Given the description of an element on the screen output the (x, y) to click on. 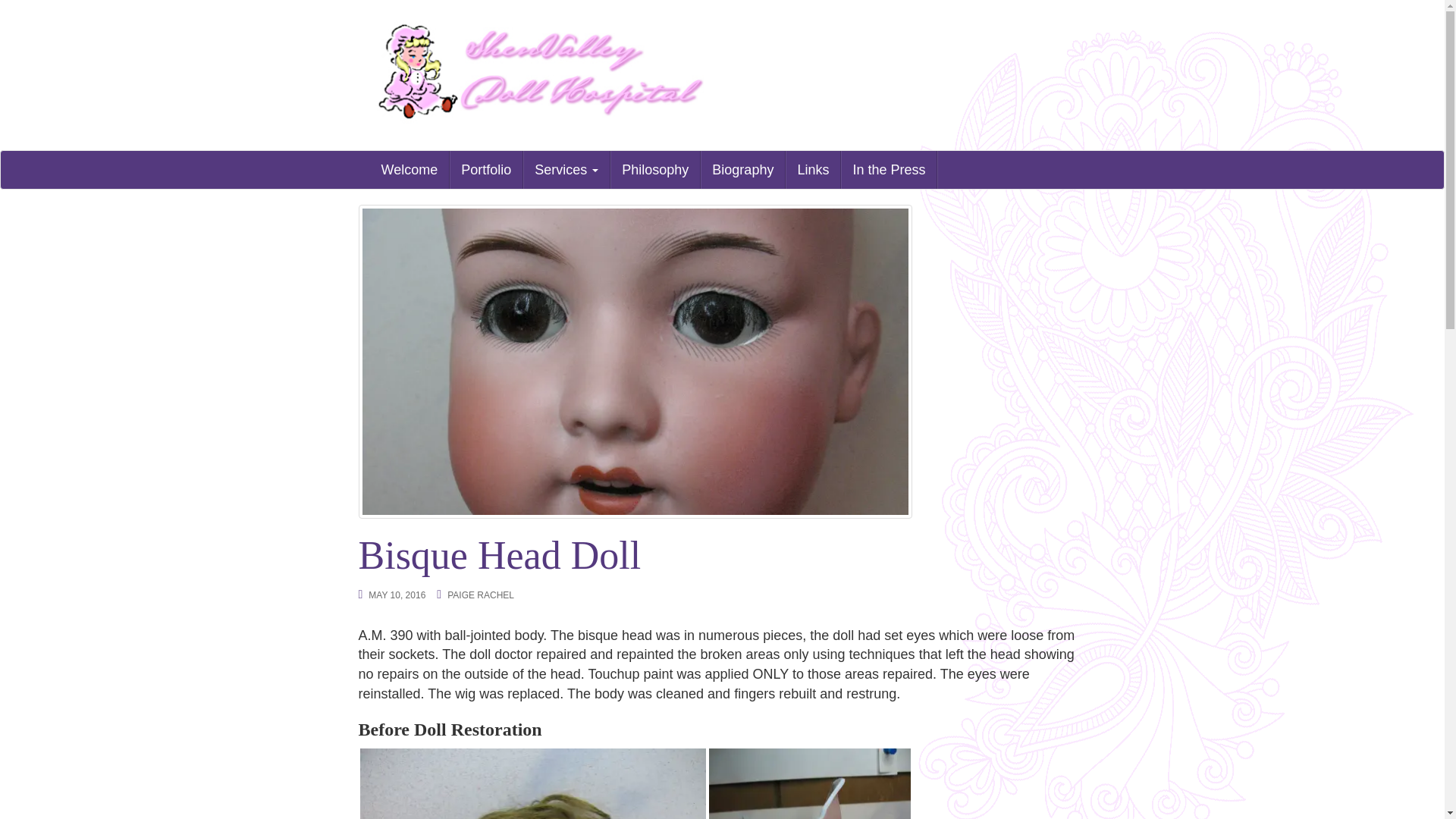
Portfolio (485, 168)
PAIGE RACHEL (479, 594)
Philosophy (655, 168)
In the Press (889, 168)
Philosophy (655, 168)
Services (566, 168)
In the Press (889, 168)
Welcome (409, 168)
Links (813, 168)
Services (566, 168)
